Given the description of an element on the screen output the (x, y) to click on. 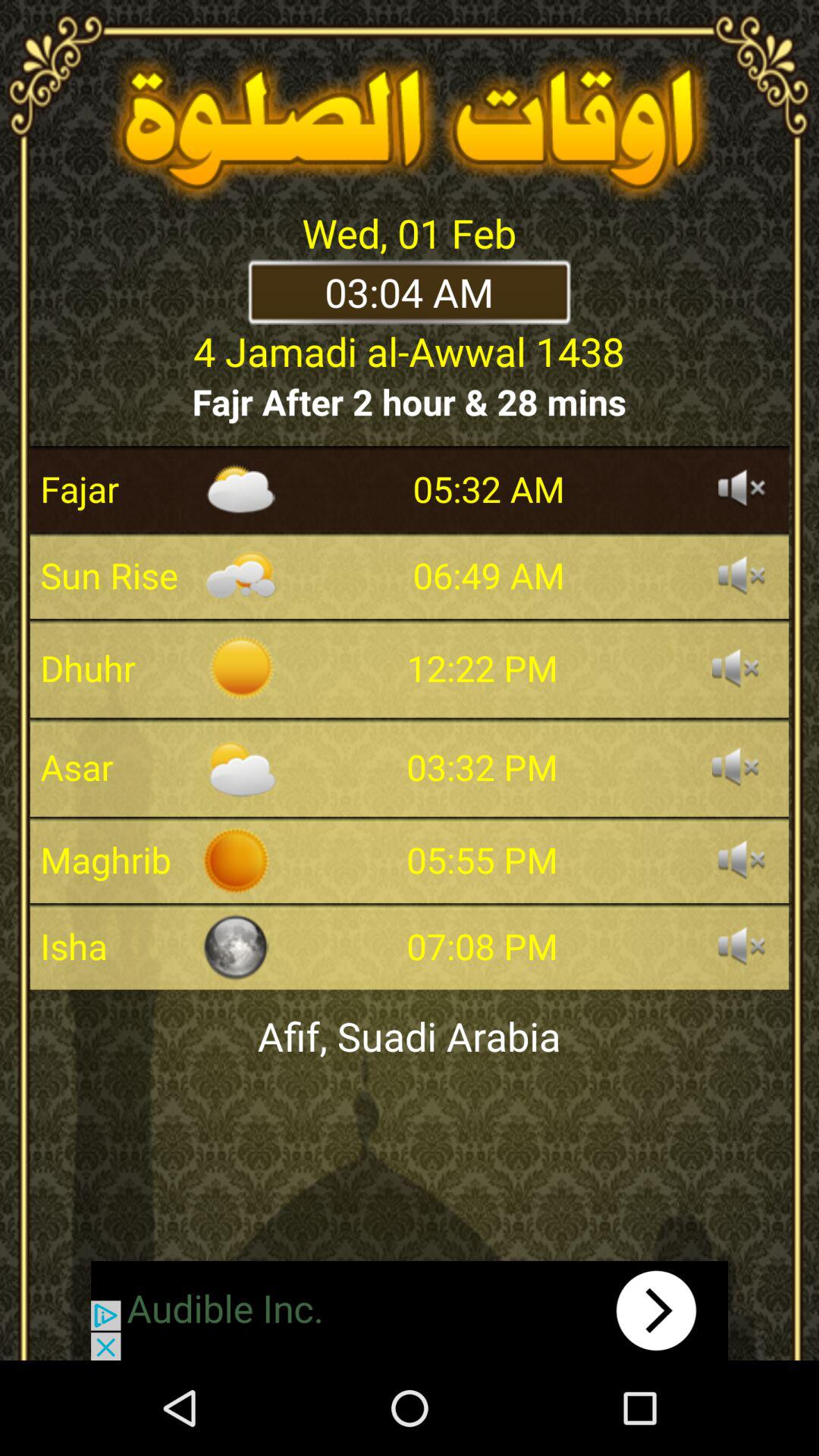
sound for sunrise (741, 575)
